Given the description of an element on the screen output the (x, y) to click on. 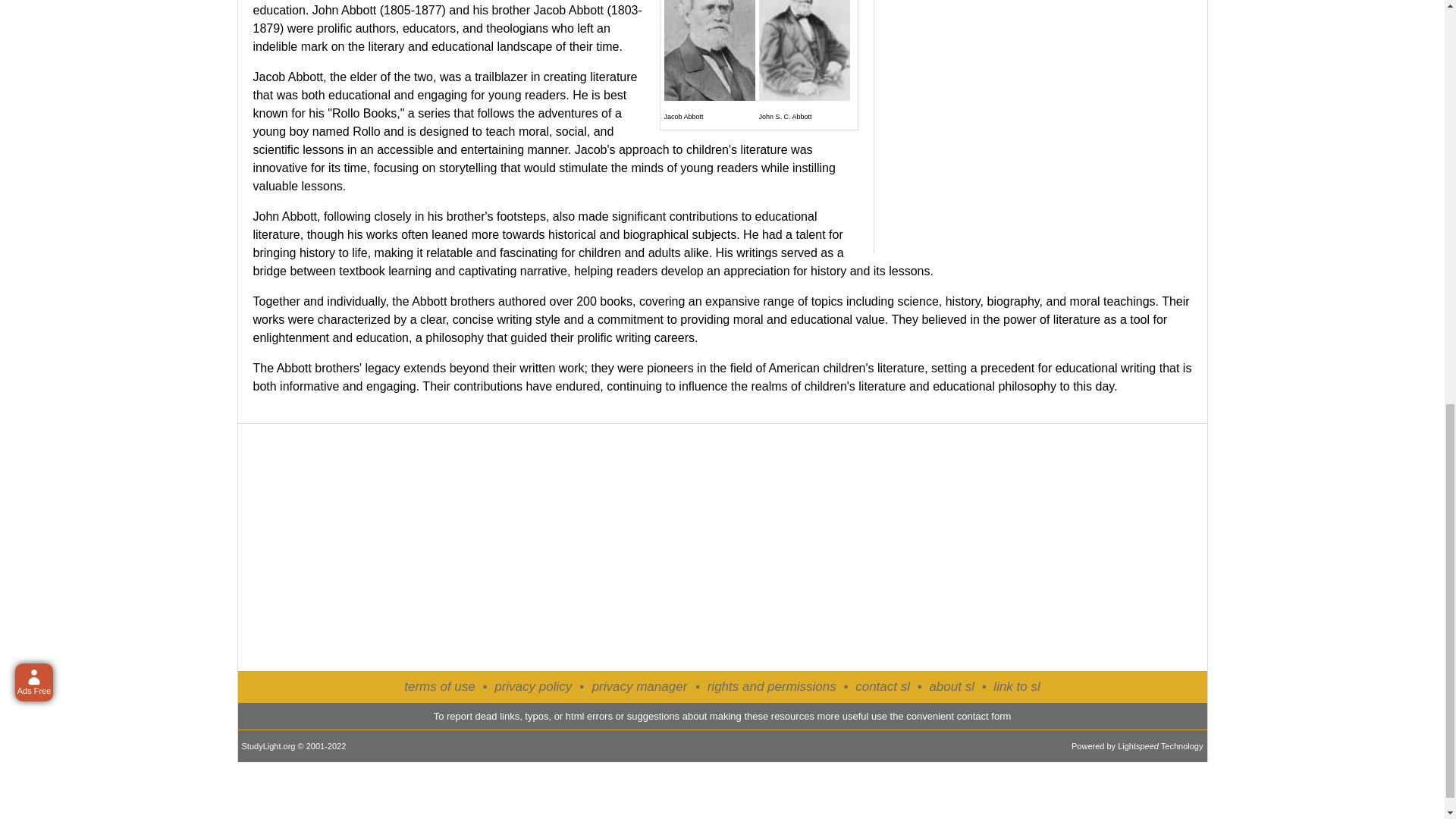
contact sl (883, 686)
about sl (951, 686)
privacy policy (533, 686)
terms of use (440, 686)
rights and permissions (771, 686)
privacy manager (640, 686)
